Given the description of an element on the screen output the (x, y) to click on. 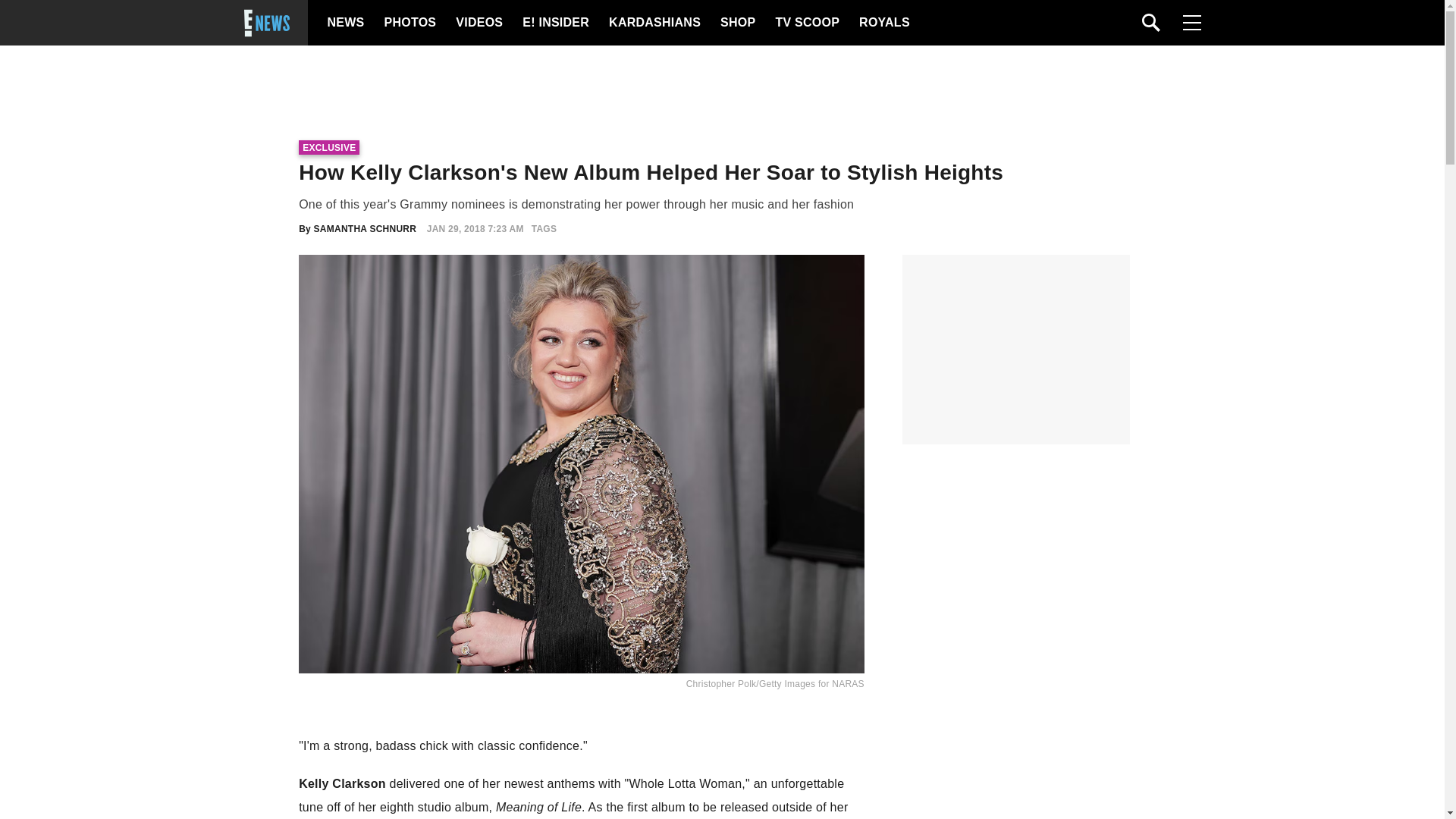
SHOP (737, 22)
TV SCOOP (806, 22)
NEWS (345, 22)
VIDEOS (478, 22)
ROYALS (883, 22)
PHOTOS (408, 22)
KARDASHIANS (653, 22)
E! INSIDER (555, 22)
SAMANTHA SCHNURR (365, 228)
